Given the description of an element on the screen output the (x, y) to click on. 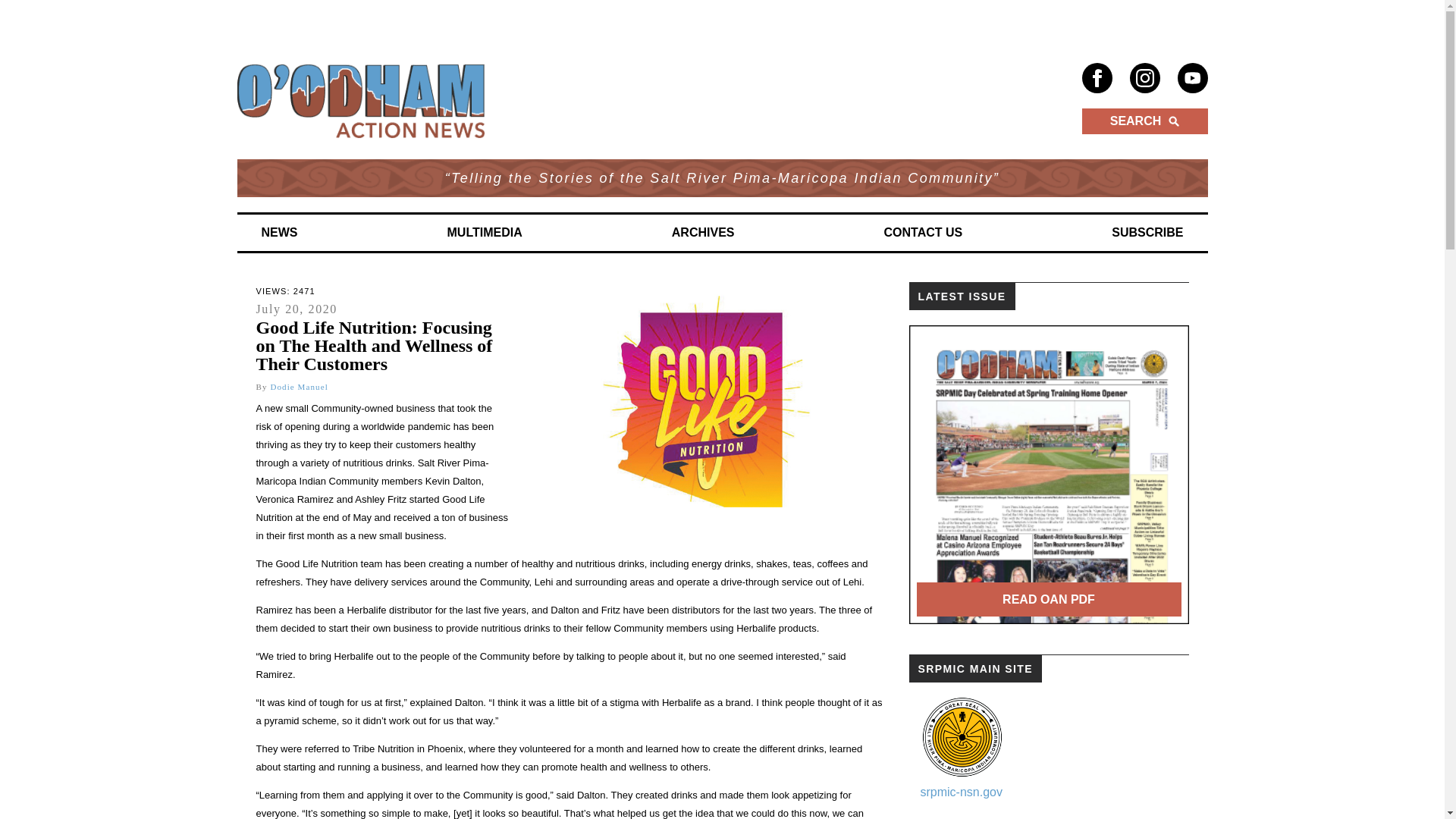
MULTIMEDIA (484, 232)
NEWS (278, 232)
CONTACT US (923, 232)
SEARCH (1144, 121)
Posts by Dodie Manuel (298, 386)
newspaper-bg (1048, 474)
srpmic-nsn.gov (961, 791)
SUBSCRIBE (1147, 232)
ARCHIVES (702, 232)
Dodie Manuel (298, 386)
